Given the description of an element on the screen output the (x, y) to click on. 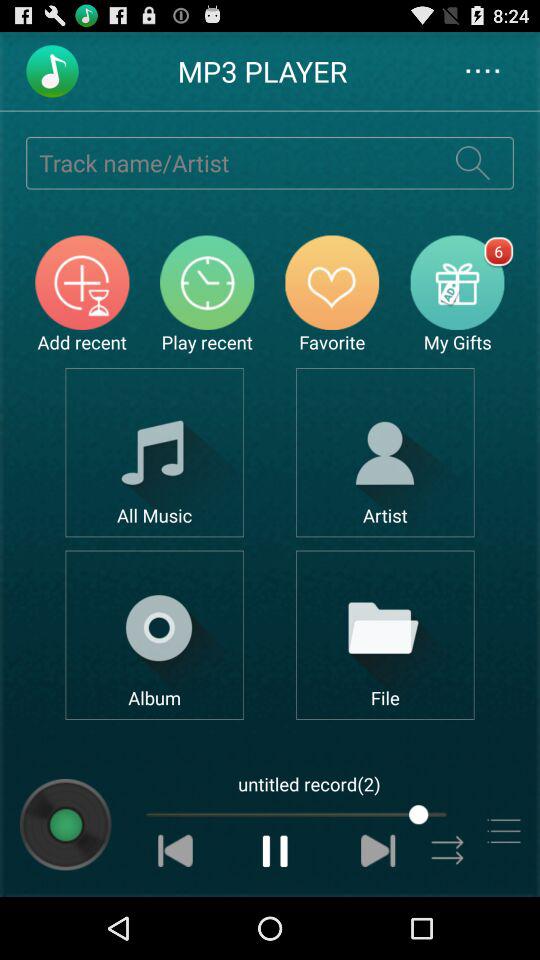
more option (503, 830)
